Given the description of an element on the screen output the (x, y) to click on. 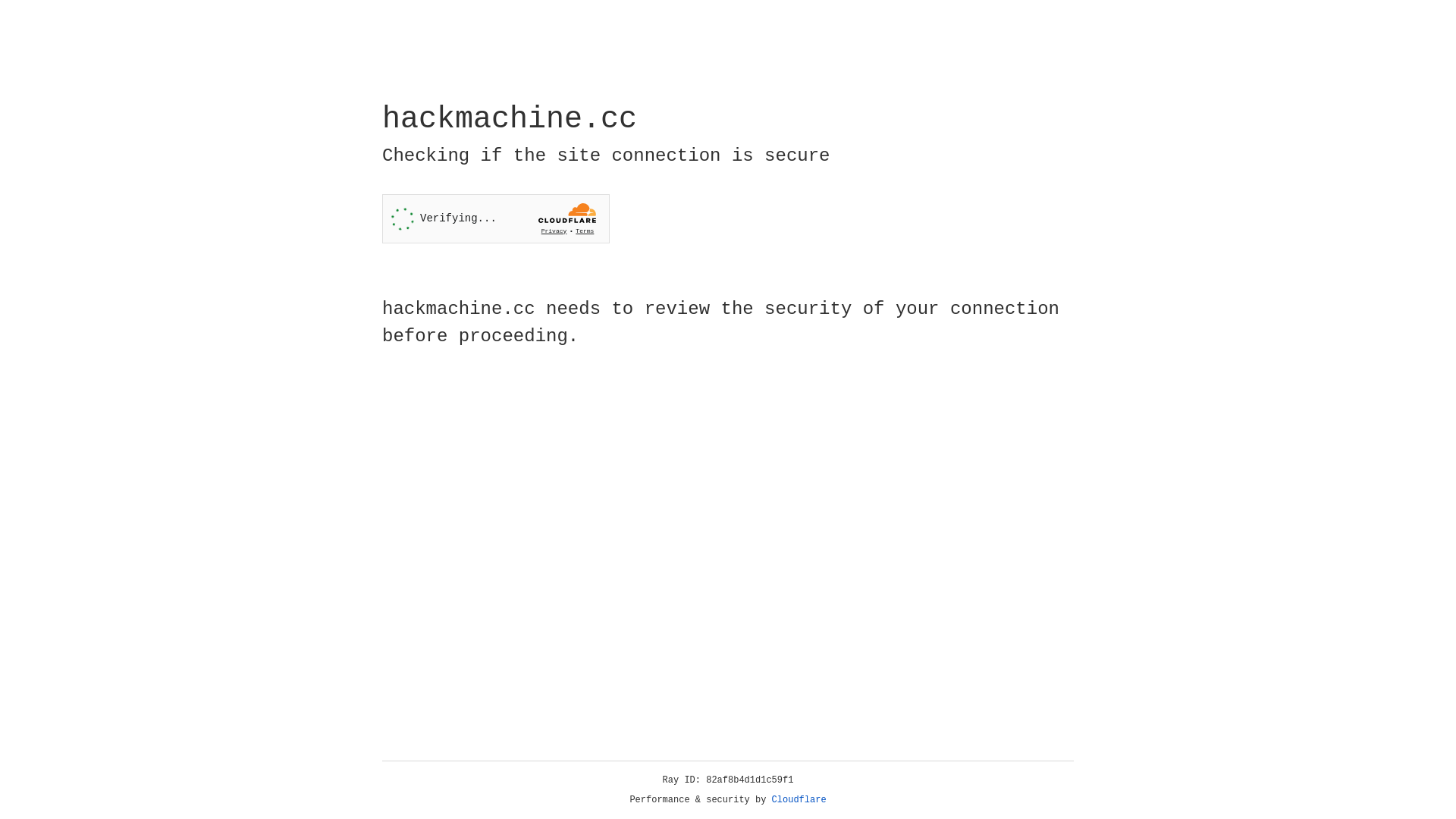
Cloudflare Element type: text (798, 799)
Widget containing a Cloudflare security challenge Element type: hover (495, 218)
